Given the description of an element on the screen output the (x, y) to click on. 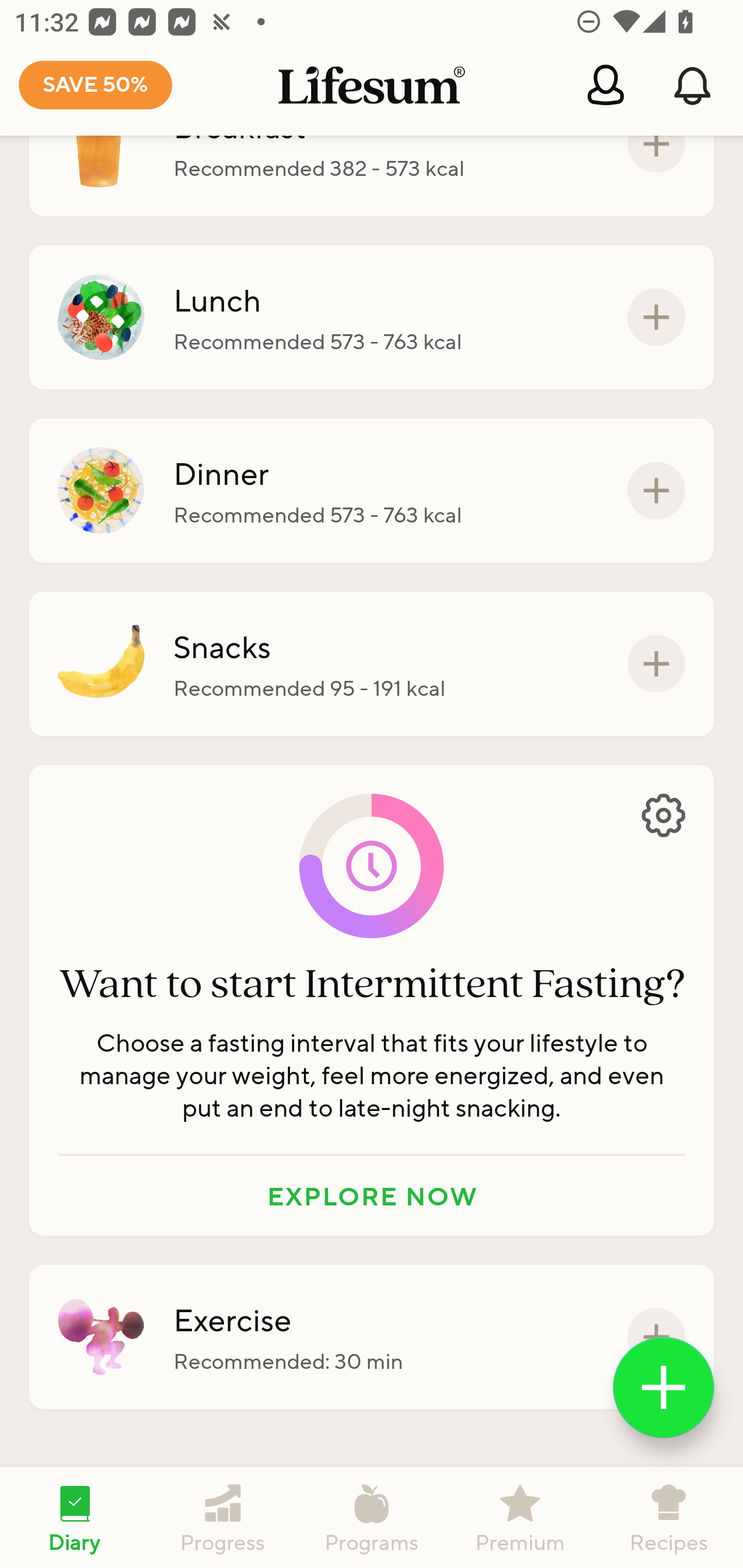
Lunch Recommended 573 - 763 kcal (371, 316)
Dinner Recommended 573 - 763 kcal (371, 490)
Snacks Recommended 95 - 191 kcal (371, 663)
EXPLORE NOW (371, 1195)
Exercise Recommended: 30 min (371, 1337)
Progress (222, 1517)
Programs (371, 1517)
Premium (519, 1517)
Recipes (668, 1517)
